Given the description of an element on the screen output the (x, y) to click on. 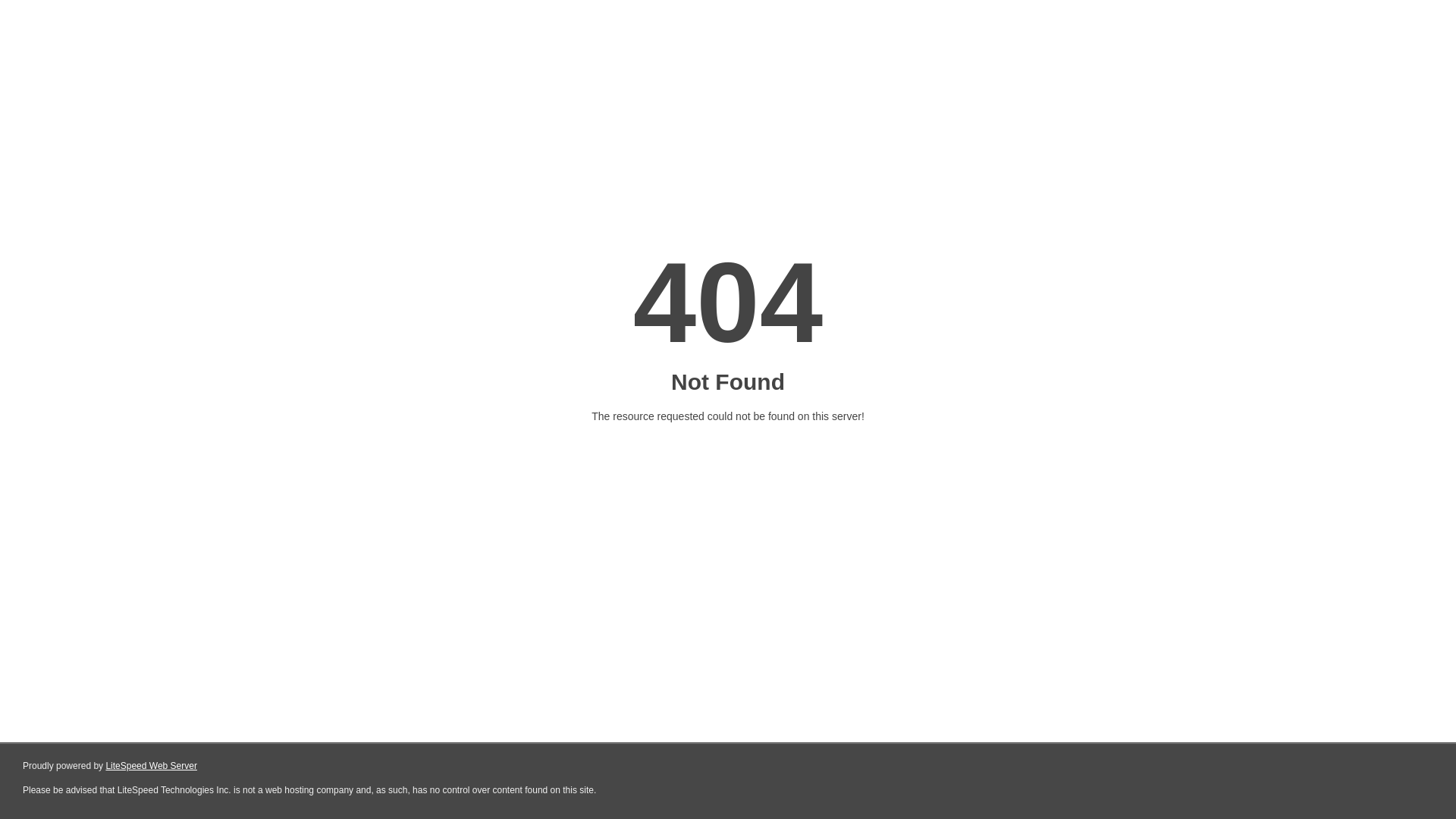
LiteSpeed Web Server Element type: text (151, 765)
